Given the description of an element on the screen output the (x, y) to click on. 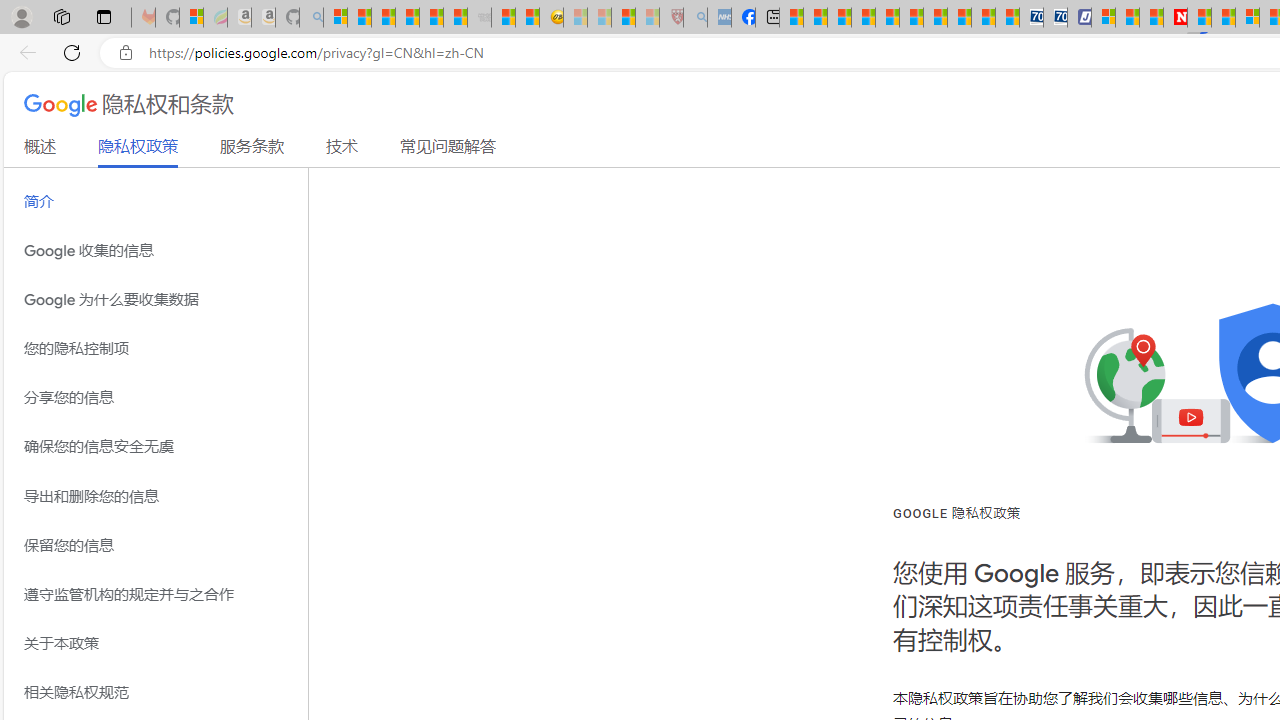
Combat Siege - Sleeping (479, 17)
